Given the description of an element on the screen output the (x, y) to click on. 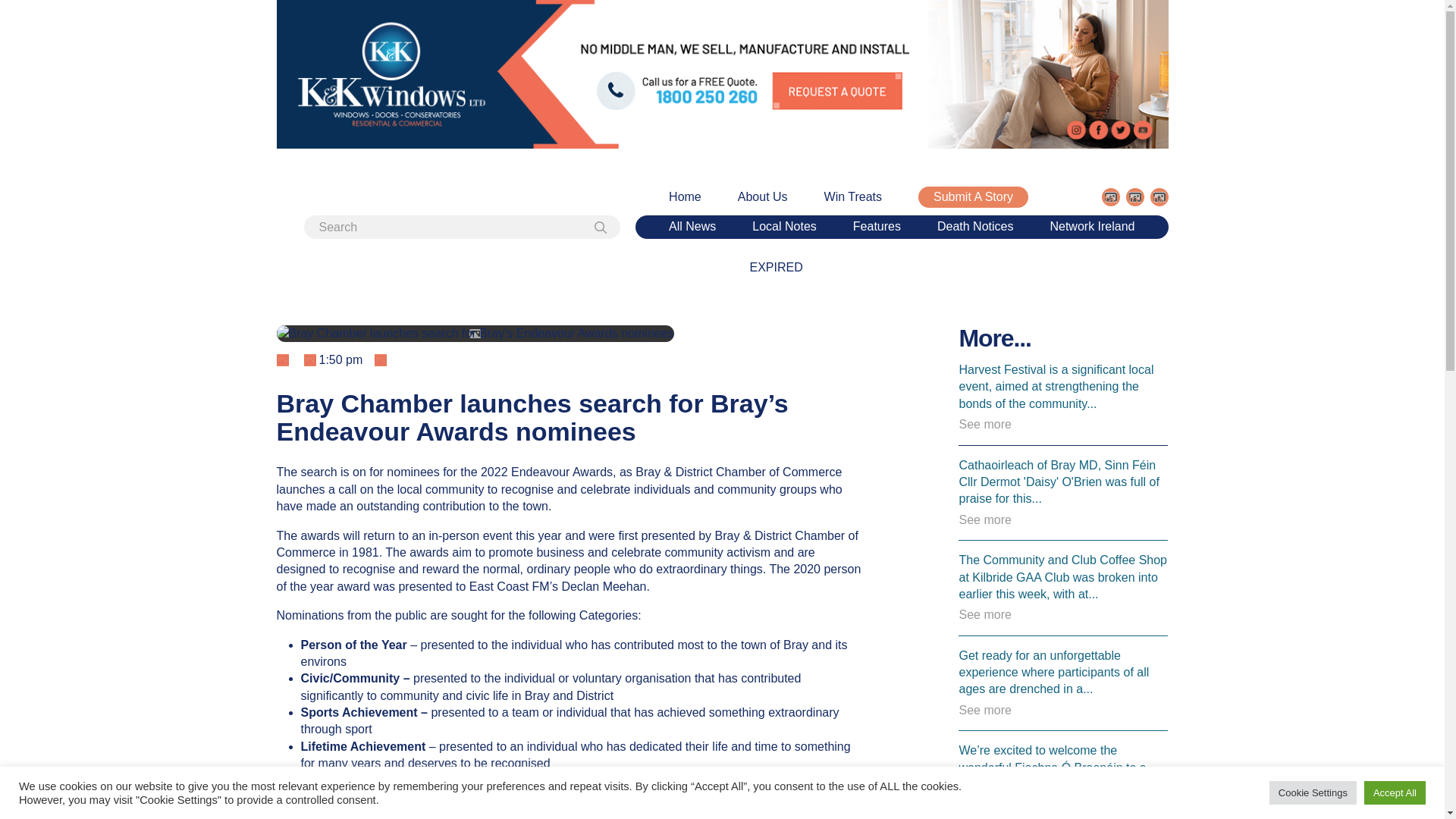
Submit A Story (972, 197)
Local Notes (783, 226)
Network Ireland (1091, 226)
About Us (762, 197)
Features (876, 226)
Win Treats (853, 197)
Death Notices (975, 226)
